Given the description of an element on the screen output the (x, y) to click on. 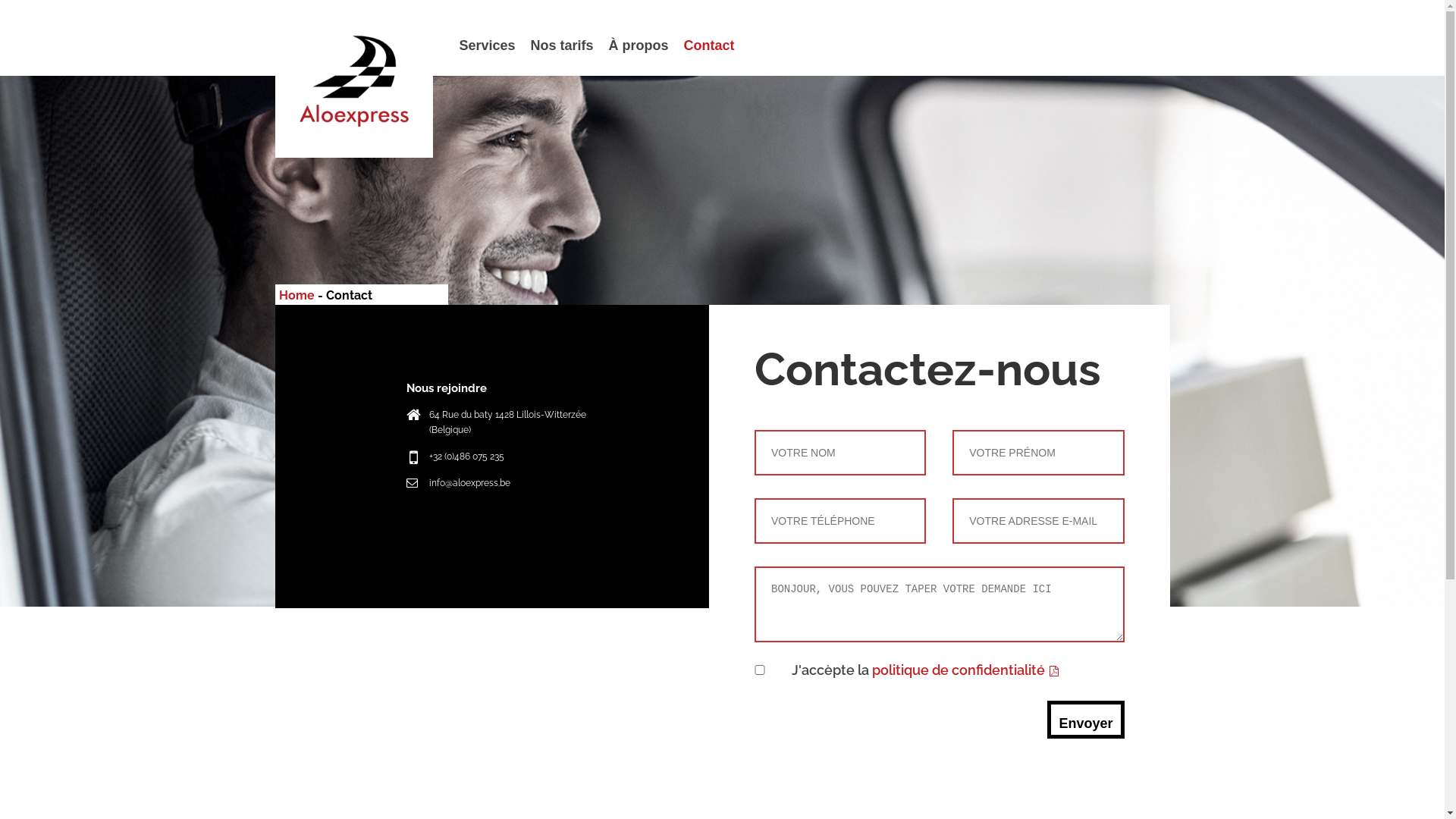
Nos tarifs Element type: text (561, 45)
+32 (0)486 075 235 Element type: text (466, 456)
Contact Element type: text (709, 45)
Envoyer Element type: text (1085, 719)
info@aloexpress.be Element type: text (469, 482)
Services Element type: text (487, 45)
Home Element type: text (296, 295)
